Given the description of an element on the screen output the (x, y) to click on. 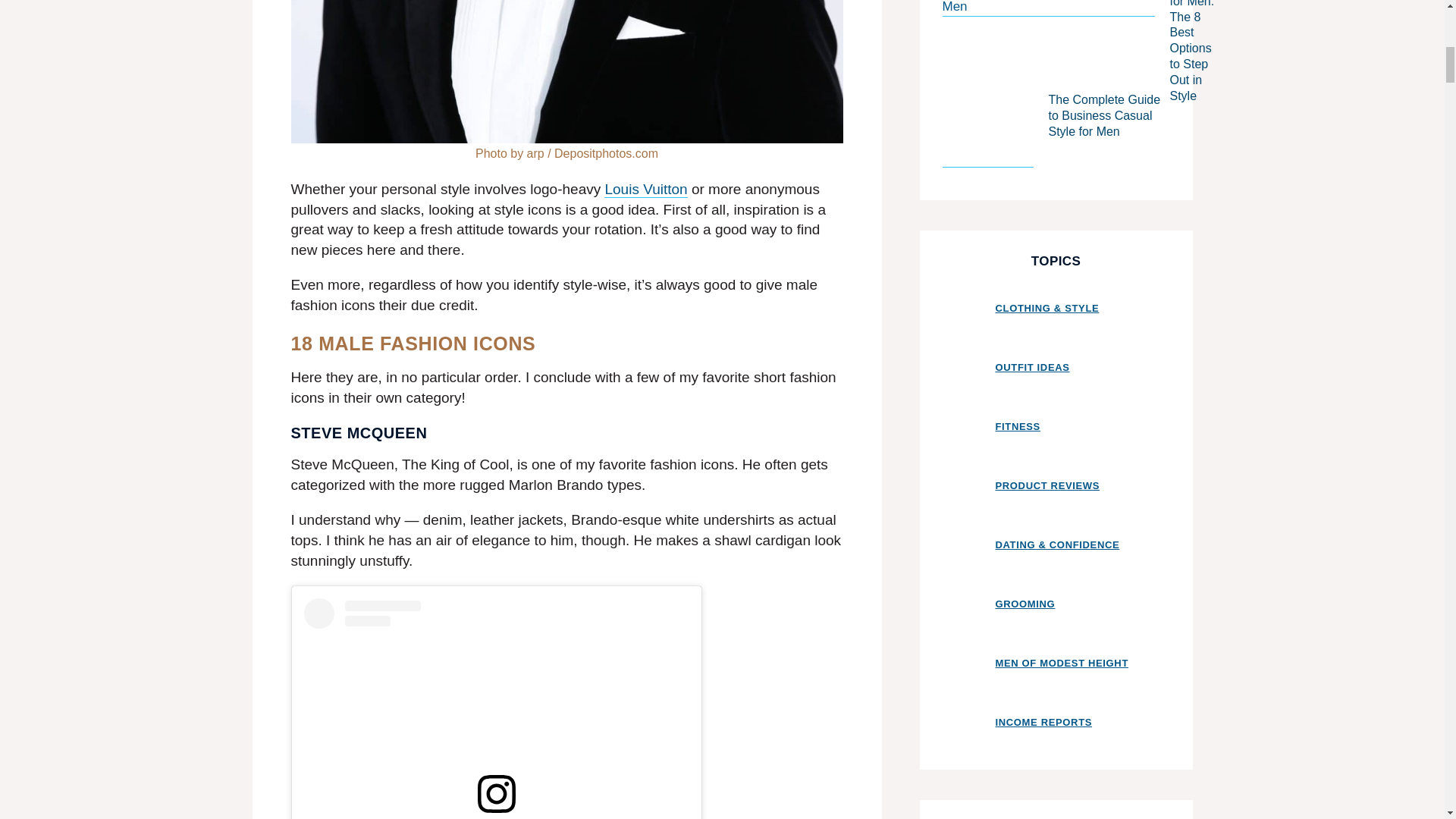
Louis Vuitton (645, 189)
View this post on Instagram (495, 708)
